Given the description of an element on the screen output the (x, y) to click on. 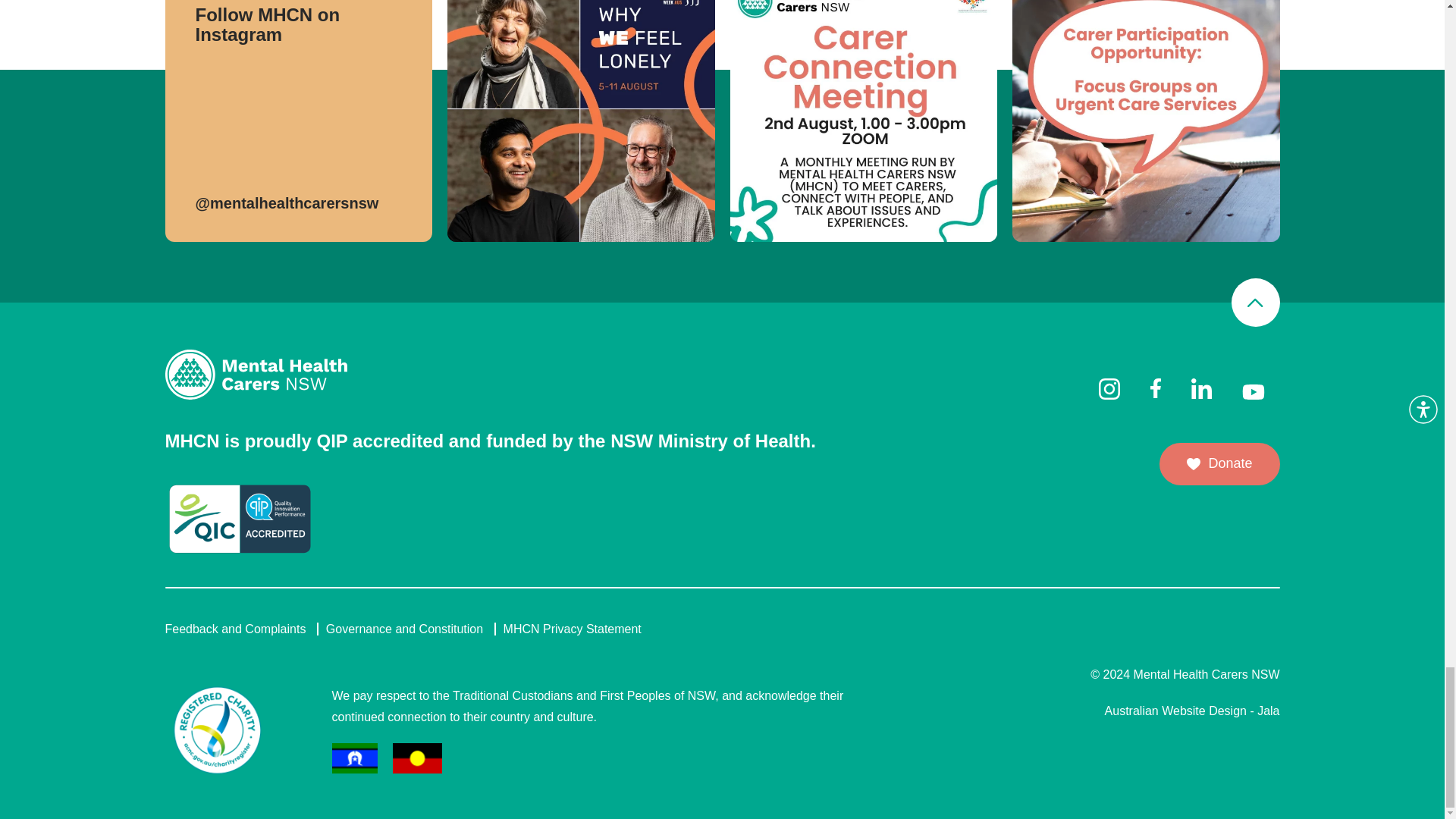
Jala Design (1192, 711)
